Given the description of an element on the screen output the (x, y) to click on. 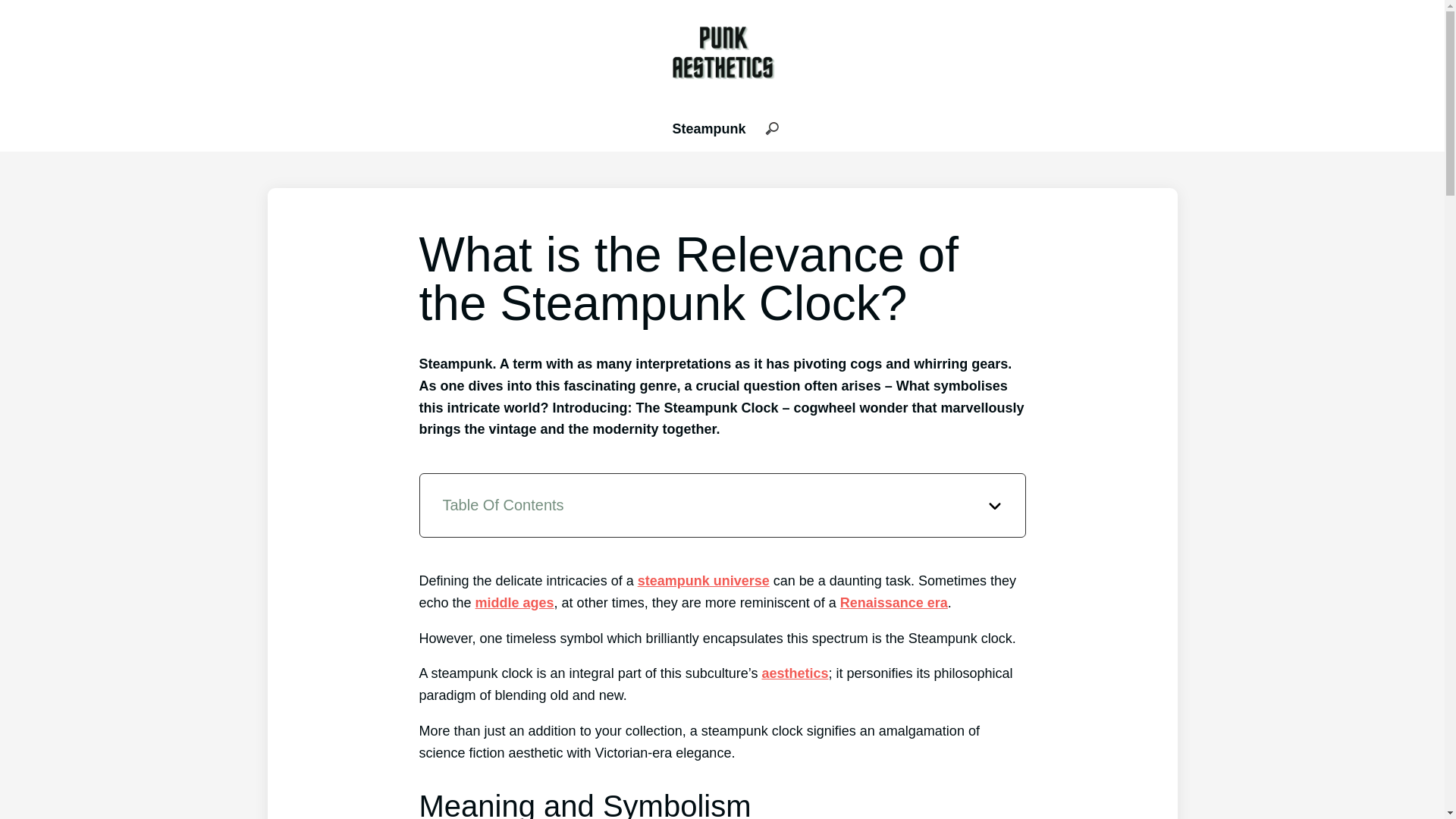
aesthetics (794, 672)
steampunk universe (703, 580)
Steampunk (708, 128)
middle ages (515, 602)
Search for: (771, 129)
Renaissance era (893, 602)
